Given the description of an element on the screen output the (x, y) to click on. 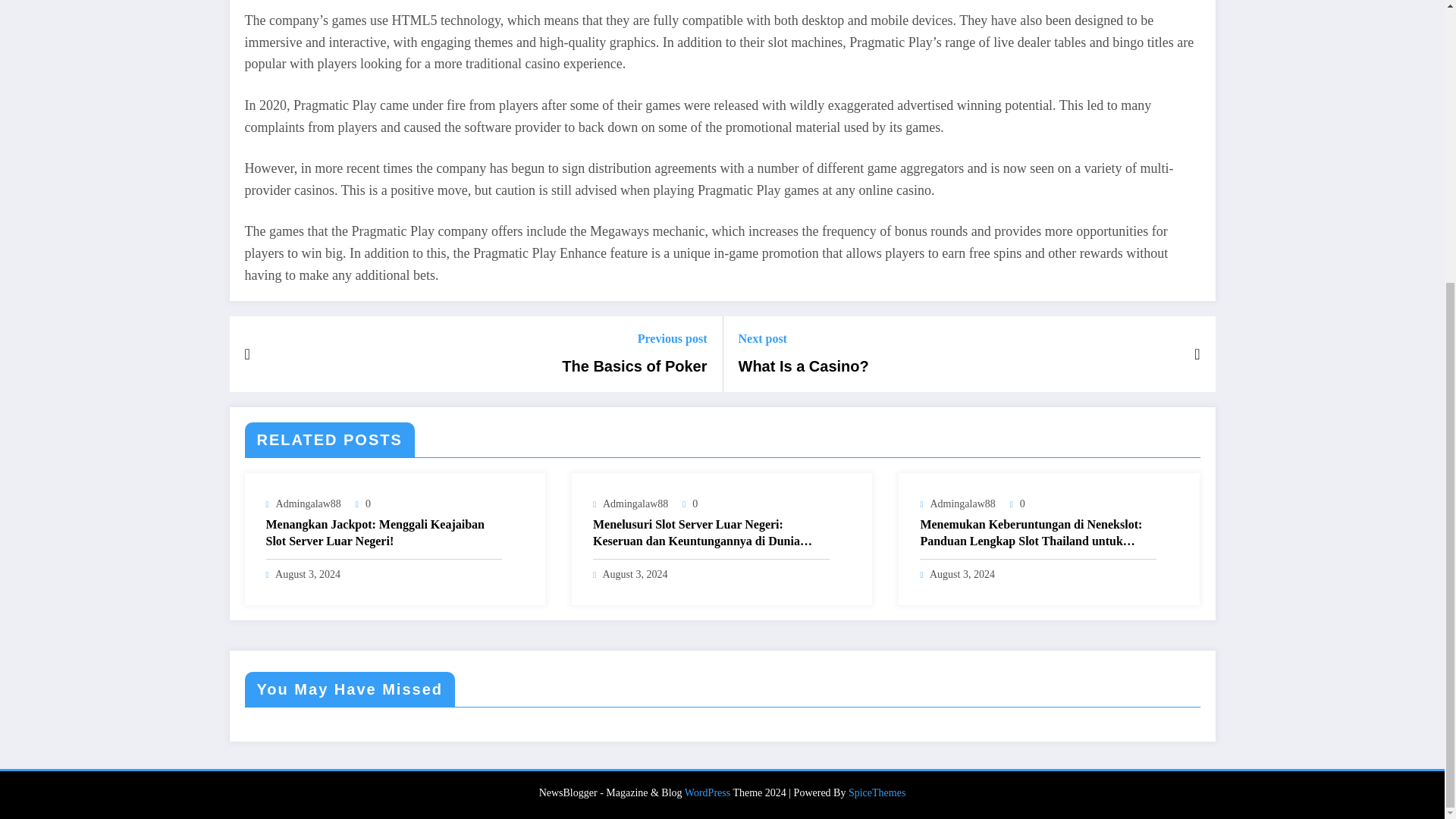
What Is a Casino? (803, 365)
Admingalaw88 (308, 503)
The Basics of Poker (634, 365)
Admingalaw88 (962, 503)
Previous post (634, 338)
August 3, 2024 (634, 573)
Admingalaw88 (635, 503)
Next post (803, 338)
August 3, 2024 (307, 573)
